Given the description of an element on the screen output the (x, y) to click on. 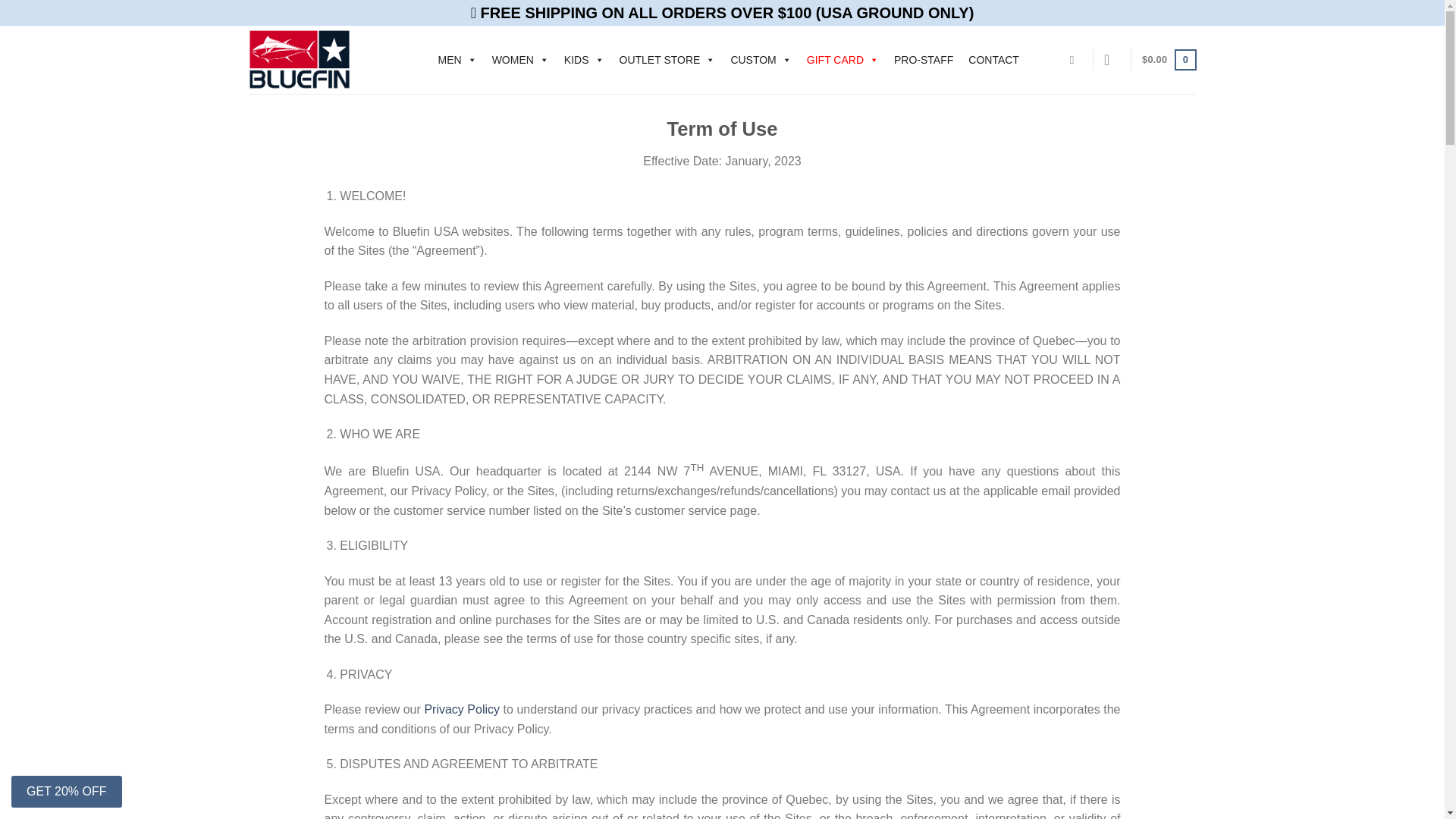
KIDS (583, 60)
Cart (1168, 59)
BluefinUSA (327, 59)
OUTLET STORE (667, 60)
CUSTOM (759, 60)
WOMEN (520, 60)
MEN (457, 60)
